Given the description of an element on the screen output the (x, y) to click on. 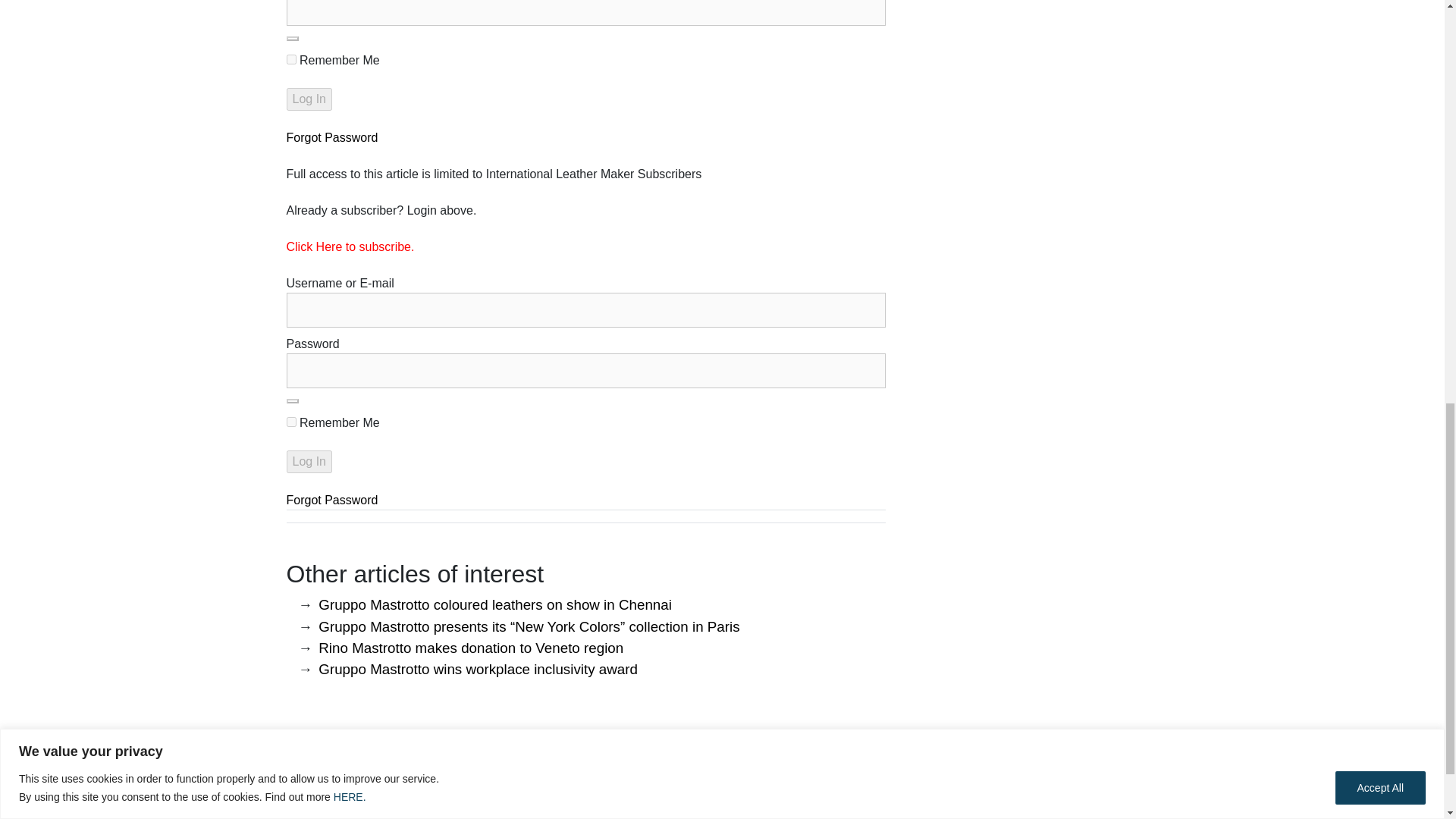
forever (291, 59)
Click Here to subscribe. (350, 246)
Log In (308, 461)
Log In (308, 98)
Log In (308, 98)
Forgot Password (332, 137)
Log In (308, 461)
forever (291, 421)
